Given the description of an element on the screen output the (x, y) to click on. 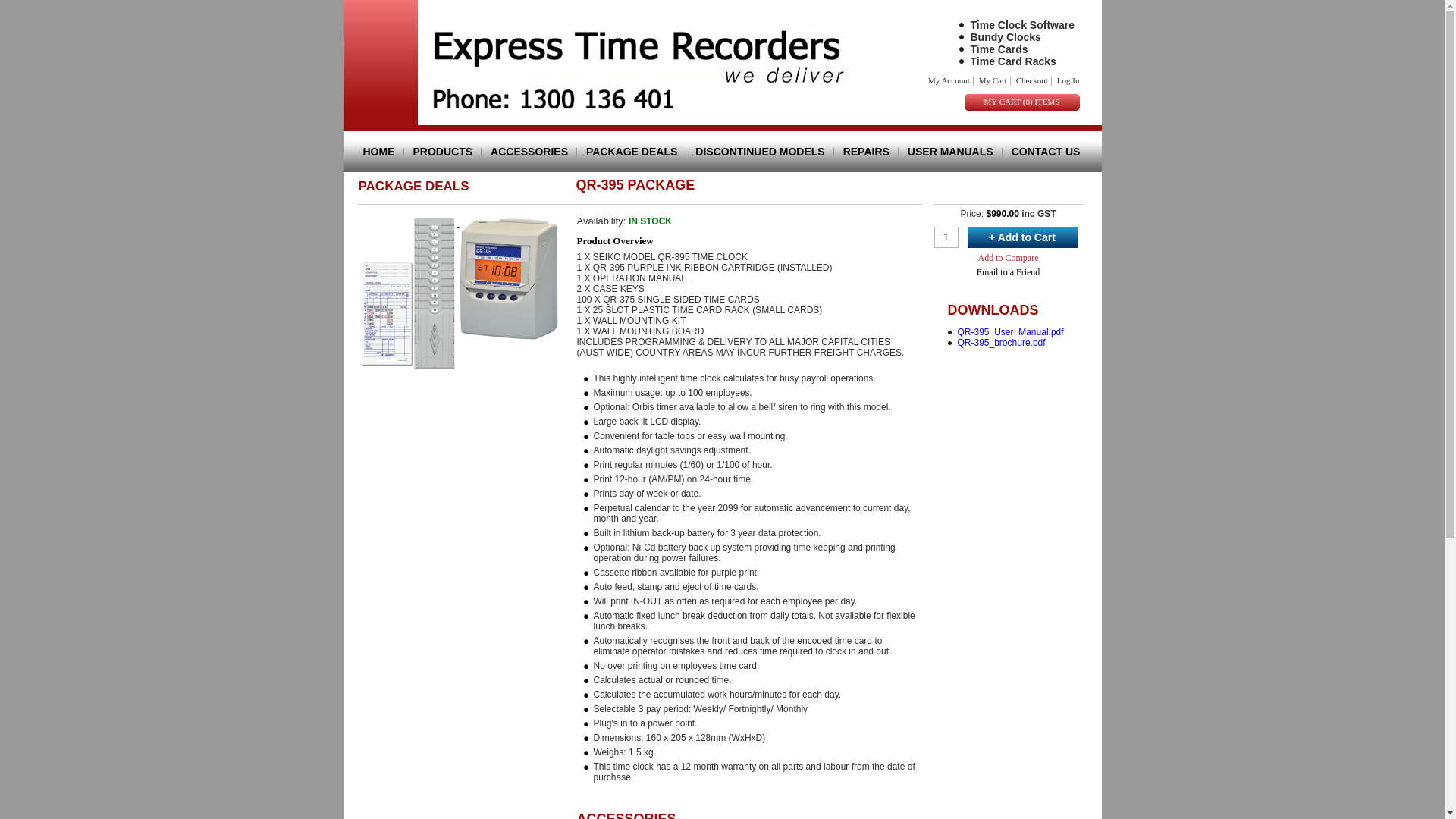
Express Time Recorders Element type: hover (638, 68)
My Account Element type: text (948, 79)
CONTACT US Element type: text (1041, 151)
Checkout Element type: text (1032, 79)
Email to a Friend Element type: text (1008, 271)
Log In Element type: text (1068, 79)
USER MANUALS Element type: text (950, 151)
REPAIRS Element type: text (866, 151)
DISCONTINUED MODELS Element type: text (759, 151)
ACCESSORIES Element type: text (529, 151)
QR-395_User_Manual.pdf Element type: text (1010, 331)
MY CART (0) ITEMS Element type: text (1021, 105)
Qty Element type: hover (946, 236)
HOME Element type: text (382, 151)
+ Add to Cart Element type: text (1022, 236)
Add to Compare Element type: text (1008, 257)
My Cart Element type: text (993, 79)
QR-395_brochure.pdf Element type: text (1000, 342)
PACKAGE DEALS Element type: text (631, 151)
PRODUCTS Element type: text (442, 151)
